Given the description of an element on the screen output the (x, y) to click on. 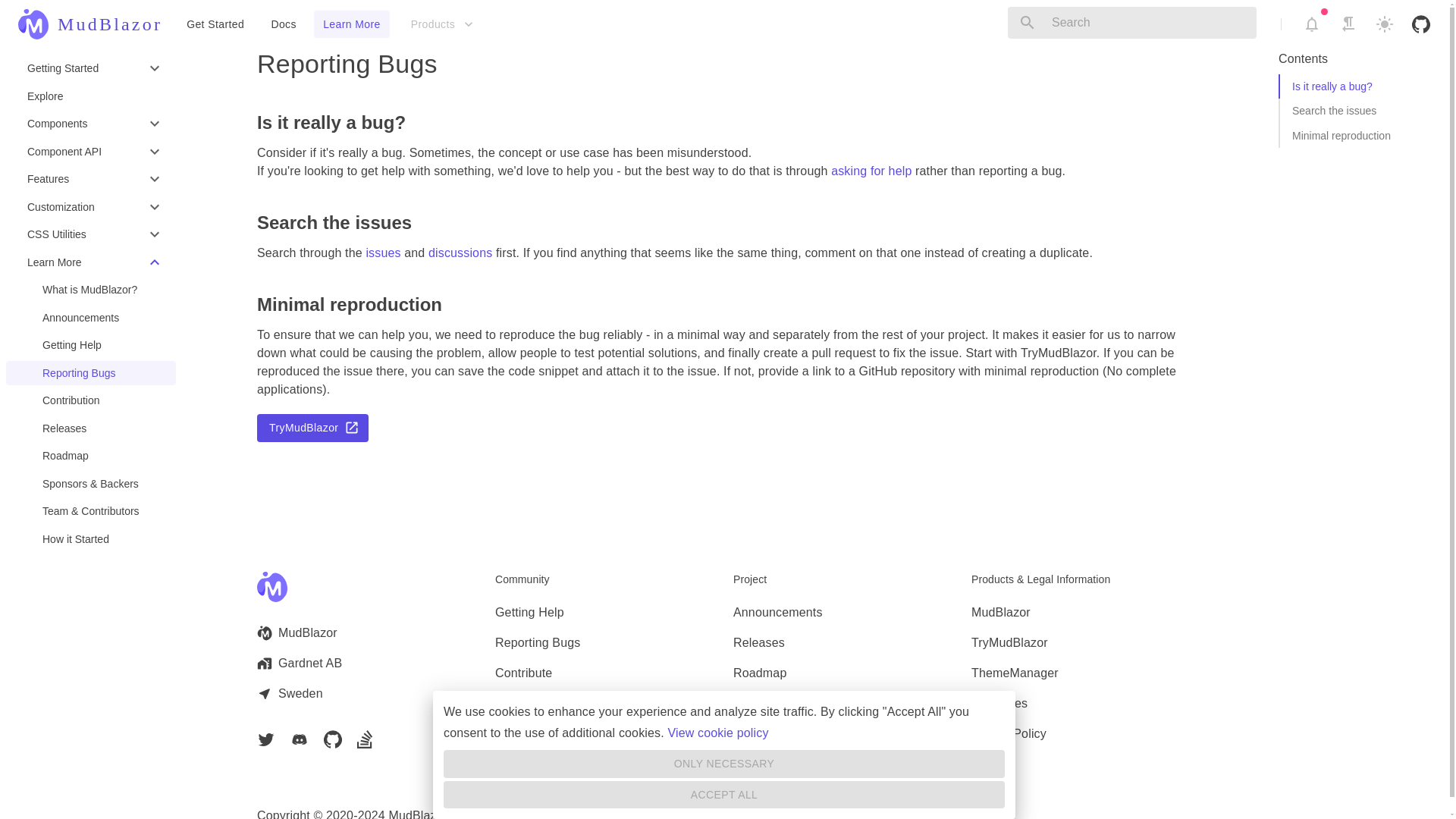
Getting Started (90, 68)
Learn More (352, 24)
Get Started (215, 24)
Explore (90, 95)
MudBlazor (89, 24)
Products (441, 24)
Components (90, 123)
Docs (283, 24)
